Given the description of an element on the screen output the (x, y) to click on. 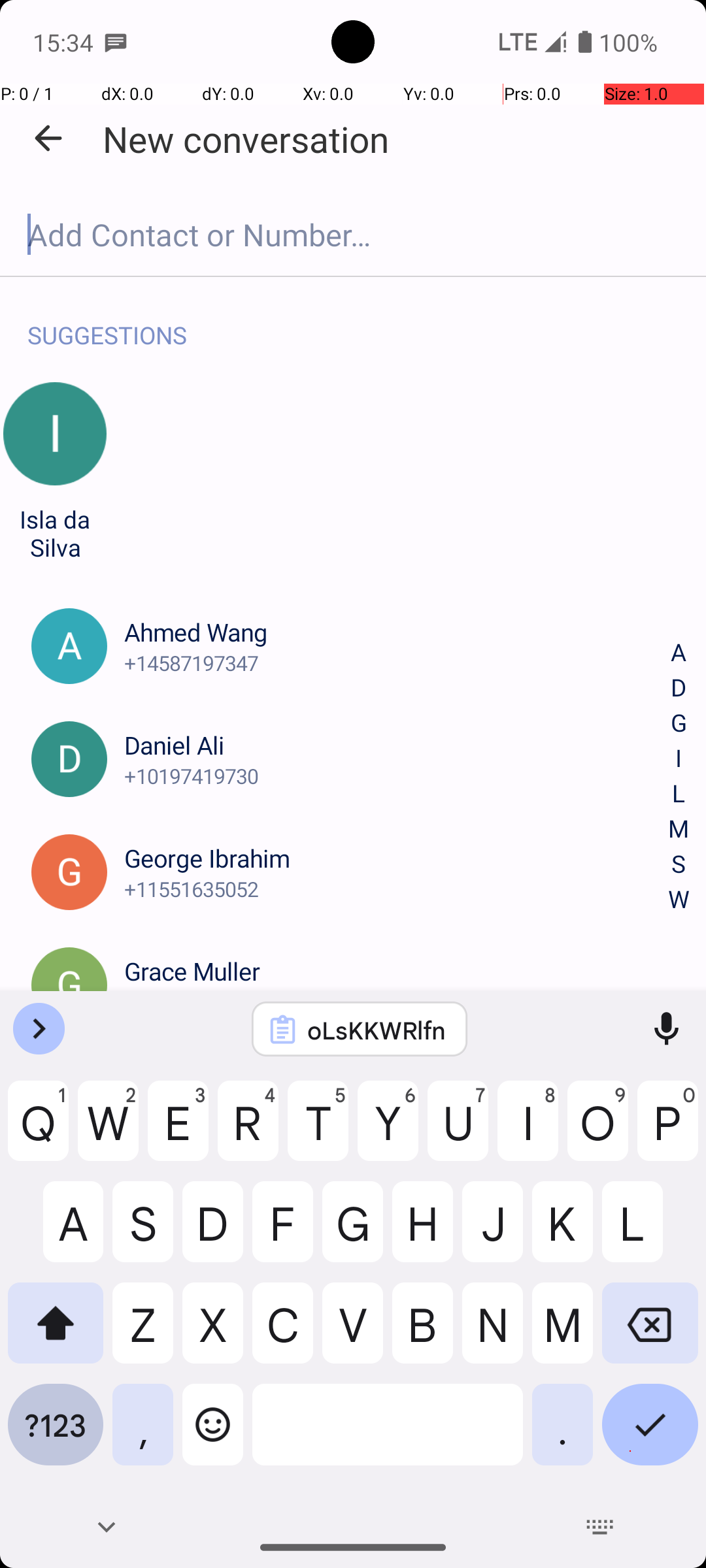
SUGGESTIONS Element type: android.widget.TextView (106, 321)
A
D
G
I
L
M
S
W Element type: android.widget.TextView (678, 776)
Isla da Silva Element type: android.widget.TextView (54, 532)
+14587197347 Element type: android.widget.TextView (397, 662)
Daniel Ali Element type: android.widget.TextView (397, 744)
+10197419730 Element type: android.widget.TextView (397, 775)
George Ibrahim Element type: android.widget.TextView (397, 857)
+11551635052 Element type: android.widget.TextView (397, 888)
Grace Muller Element type: android.widget.TextView (397, 970)
+12804137376 Element type: android.widget.TextView (397, 1001)
oLsKKWRlfn Element type: android.widget.TextView (376, 1029)
SMS Messenger notification: Isla da Silva Element type: android.widget.ImageView (115, 41)
